Given the description of an element on the screen output the (x, y) to click on. 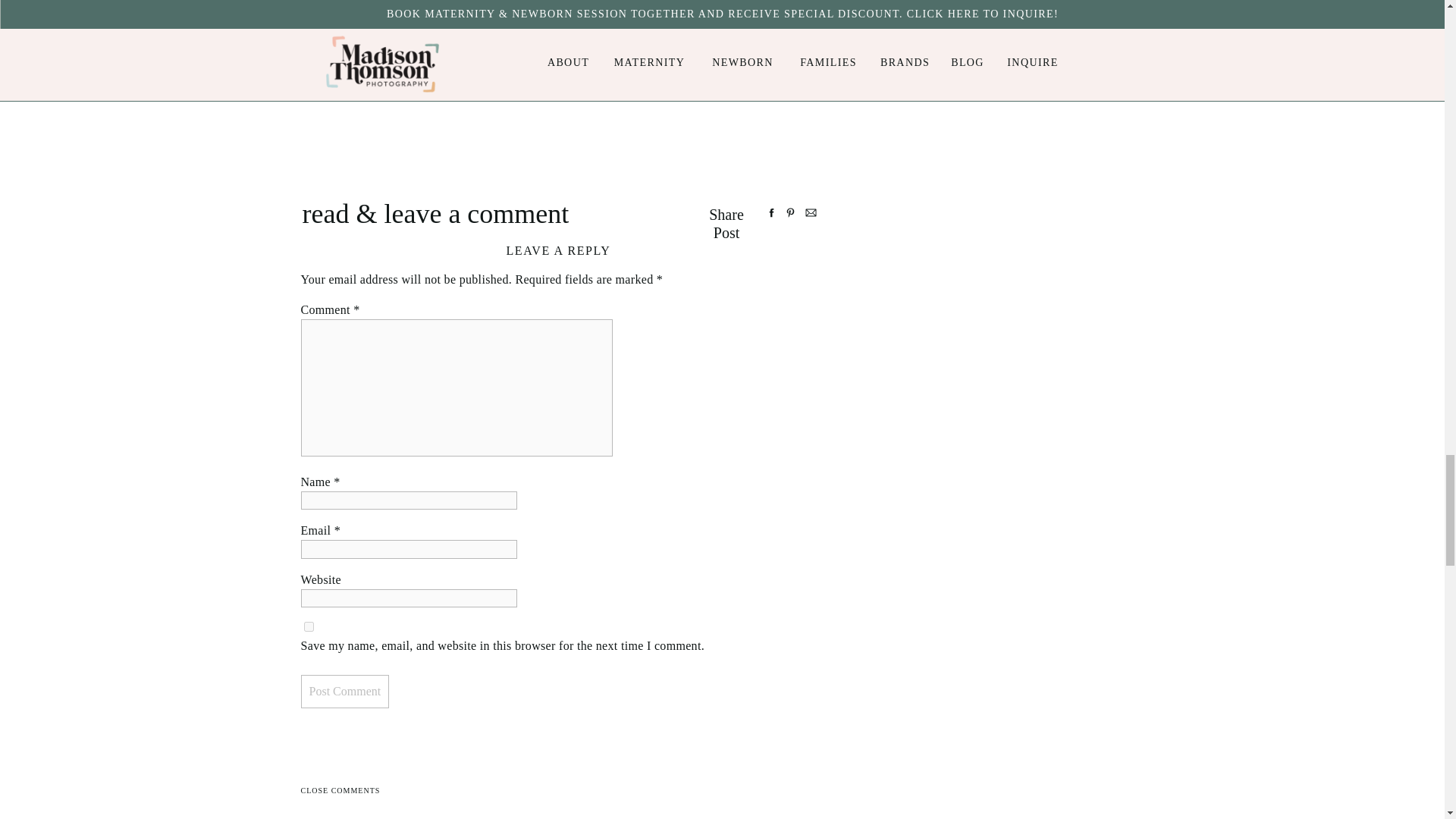
yes (307, 626)
Post Comment (343, 691)
